Given the description of an element on the screen output the (x, y) to click on. 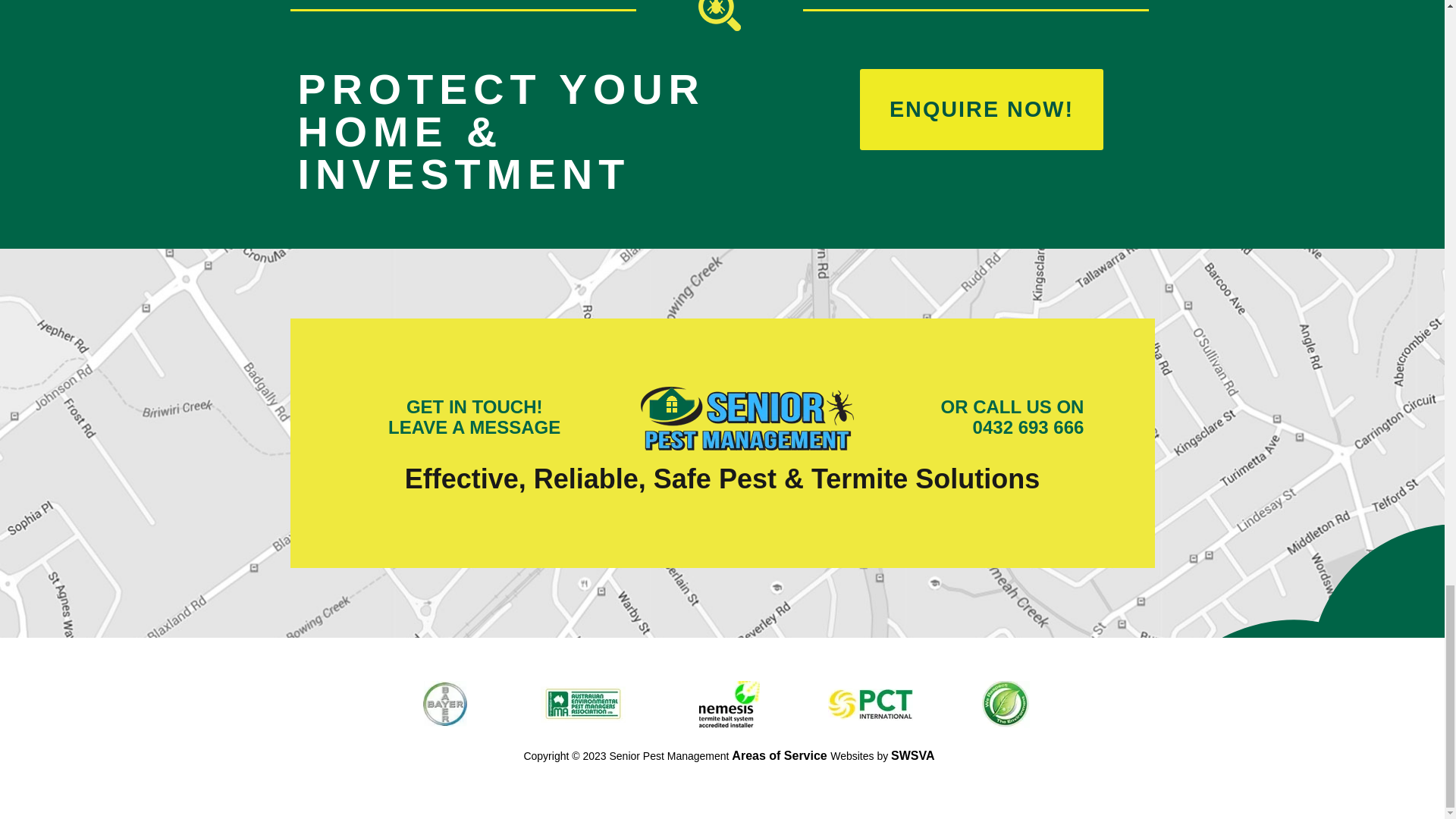
Areas of Service  (780, 755)
ENQUIRE NOW! (981, 108)
pct.png (870, 704)
SWSVA (912, 755)
logo5.png (1005, 704)
nemises.png (727, 704)
aepa.png (583, 704)
bayer.png (445, 703)
